Given the description of an element on the screen output the (x, y) to click on. 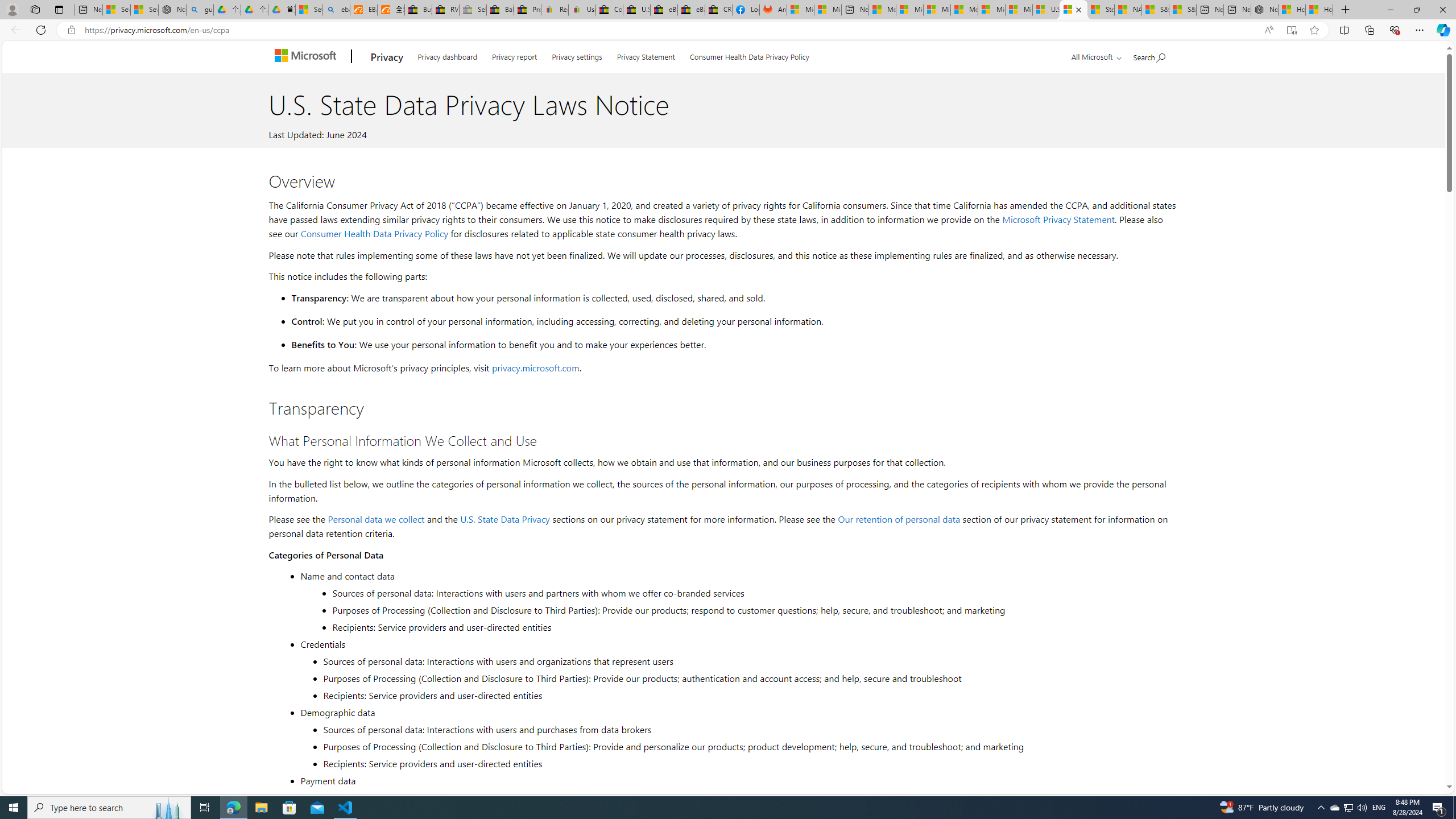
Privacy Statement (645, 54)
privacy.microsoft.com (535, 367)
Personal Profile (12, 9)
Consumer Health Data Privacy Policy (373, 233)
U.S. State Data Privacy (505, 518)
Recipients: Service providers and user-directed entities (748, 763)
Privacy dashboard (447, 54)
Add this page to favorites (Ctrl+D) (1314, 29)
U.S. State Privacy Disclosures - eBay Inc. (636, 9)
Baby Keepsakes & Announcements for sale | eBay (499, 9)
